Given the description of an element on the screen output the (x, y) to click on. 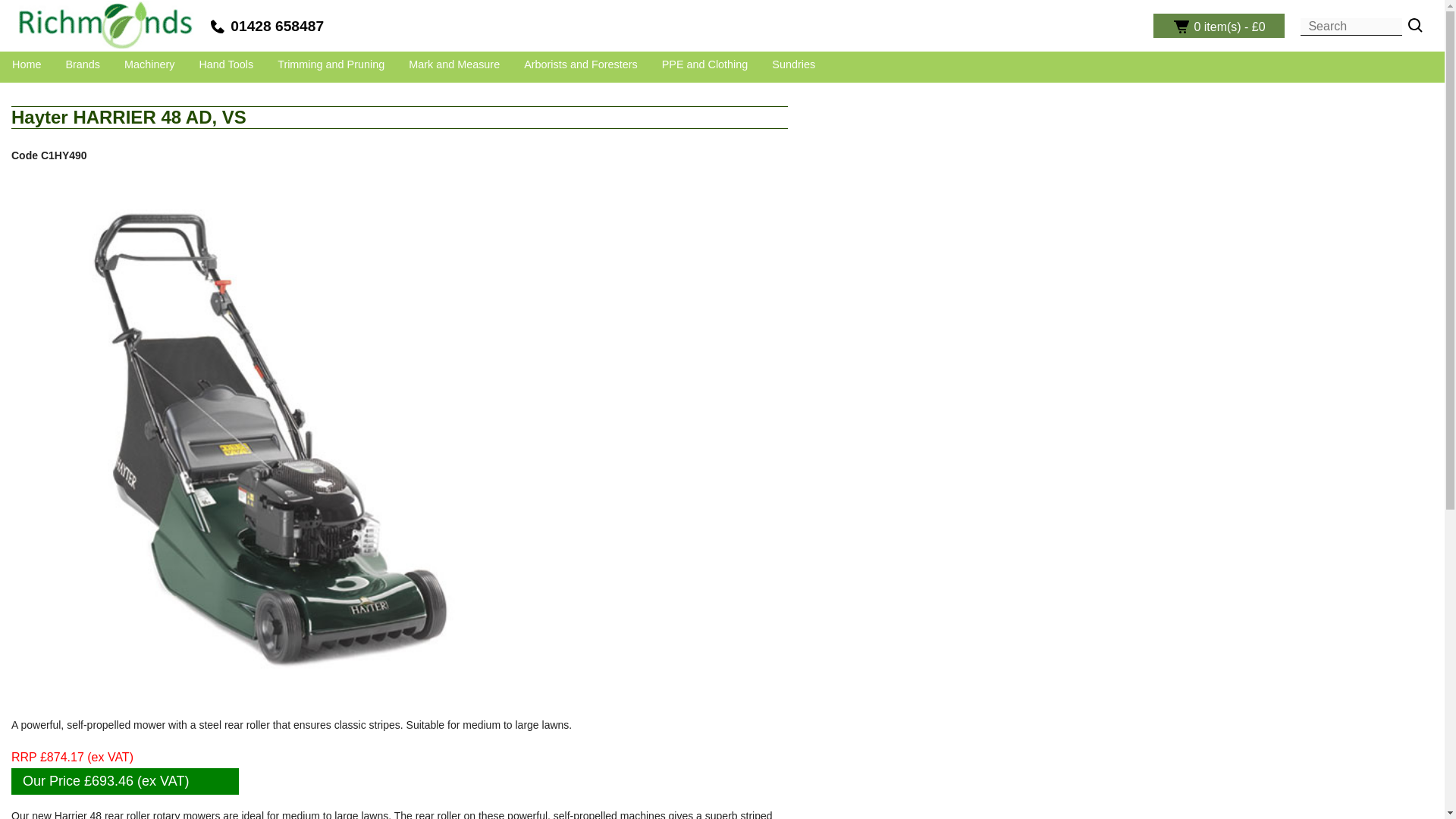
Machinery (148, 64)
Hand Tools (225, 64)
Brands (82, 64)
Home (25, 64)
